Given the description of an element on the screen output the (x, y) to click on. 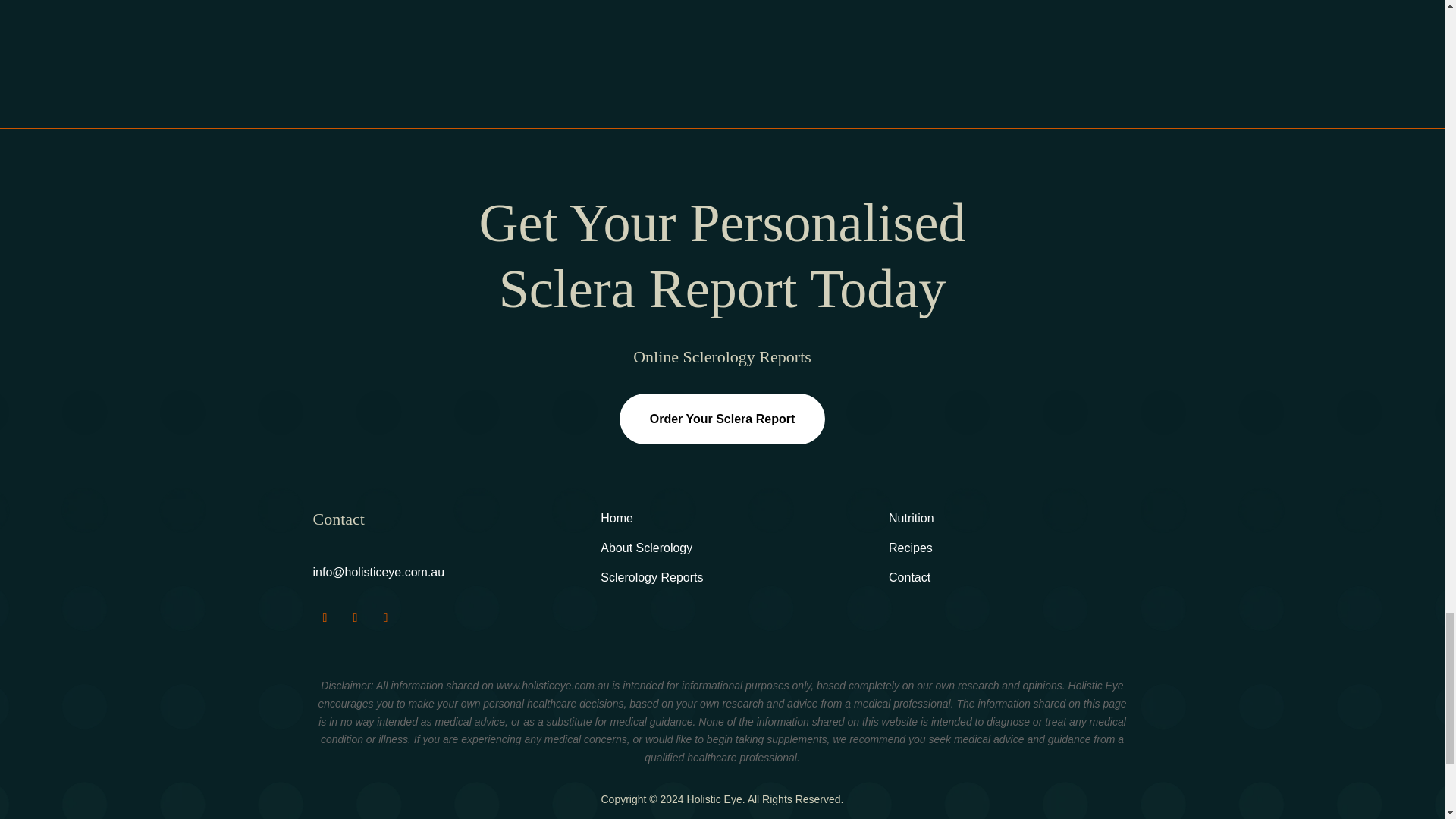
Follow on Facebook (324, 617)
Follow on Instagram (354, 617)
Follow on Pinterest (384, 617)
